Given the description of an element on the screen output the (x, y) to click on. 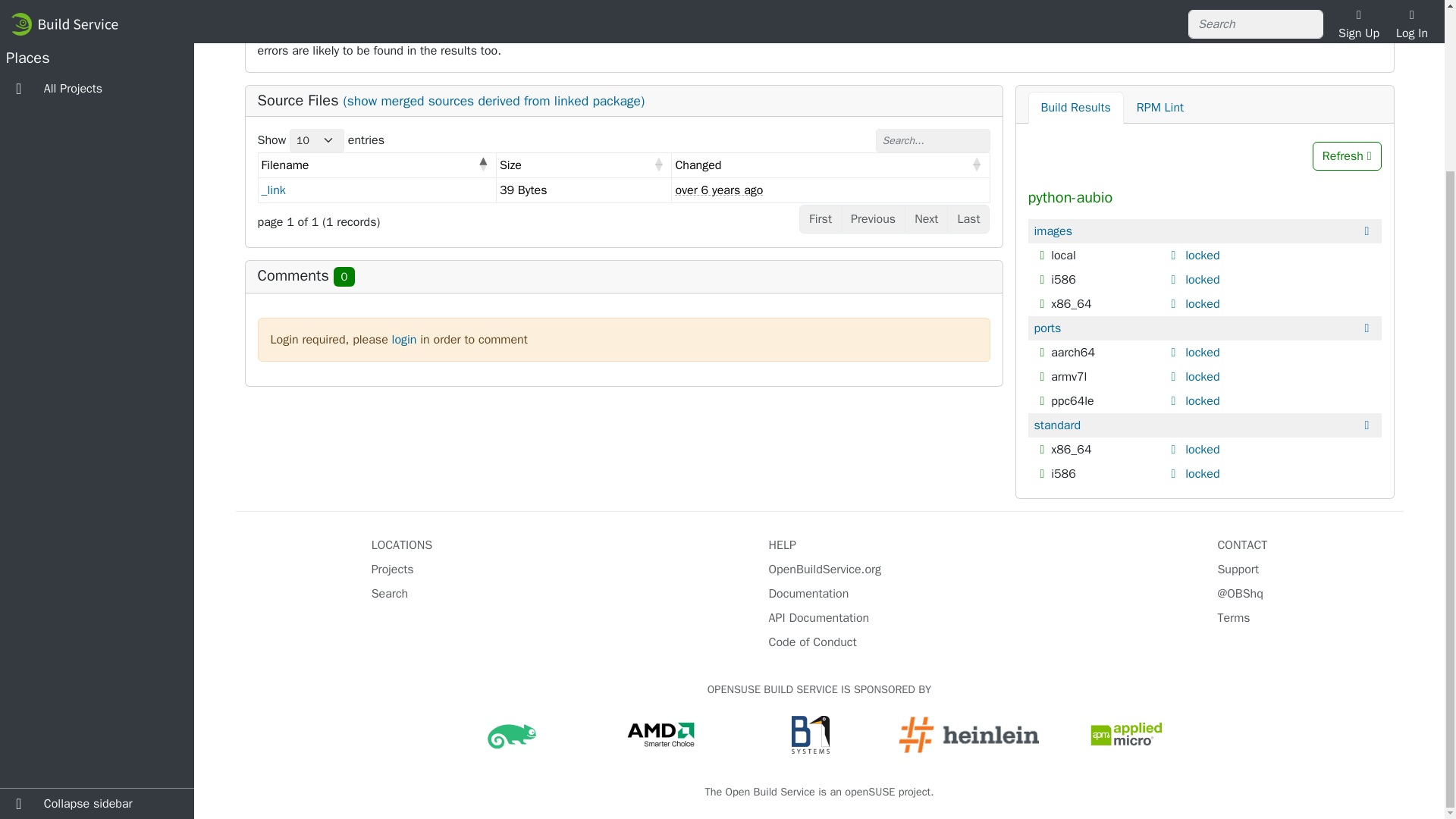
Checkout Package (1071, 14)
locked (1202, 376)
locked (1202, 255)
images (1053, 230)
Create Badge (1059, 32)
Collapse sidebar (96, 598)
locked (1202, 352)
locked (1202, 473)
Click to keep it open (1175, 279)
Previous (873, 218)
Binaries for ports (1047, 328)
ports (1047, 328)
locked (1202, 400)
Build Results (1075, 107)
First (820, 218)
